Given the description of an element on the screen output the (x, y) to click on. 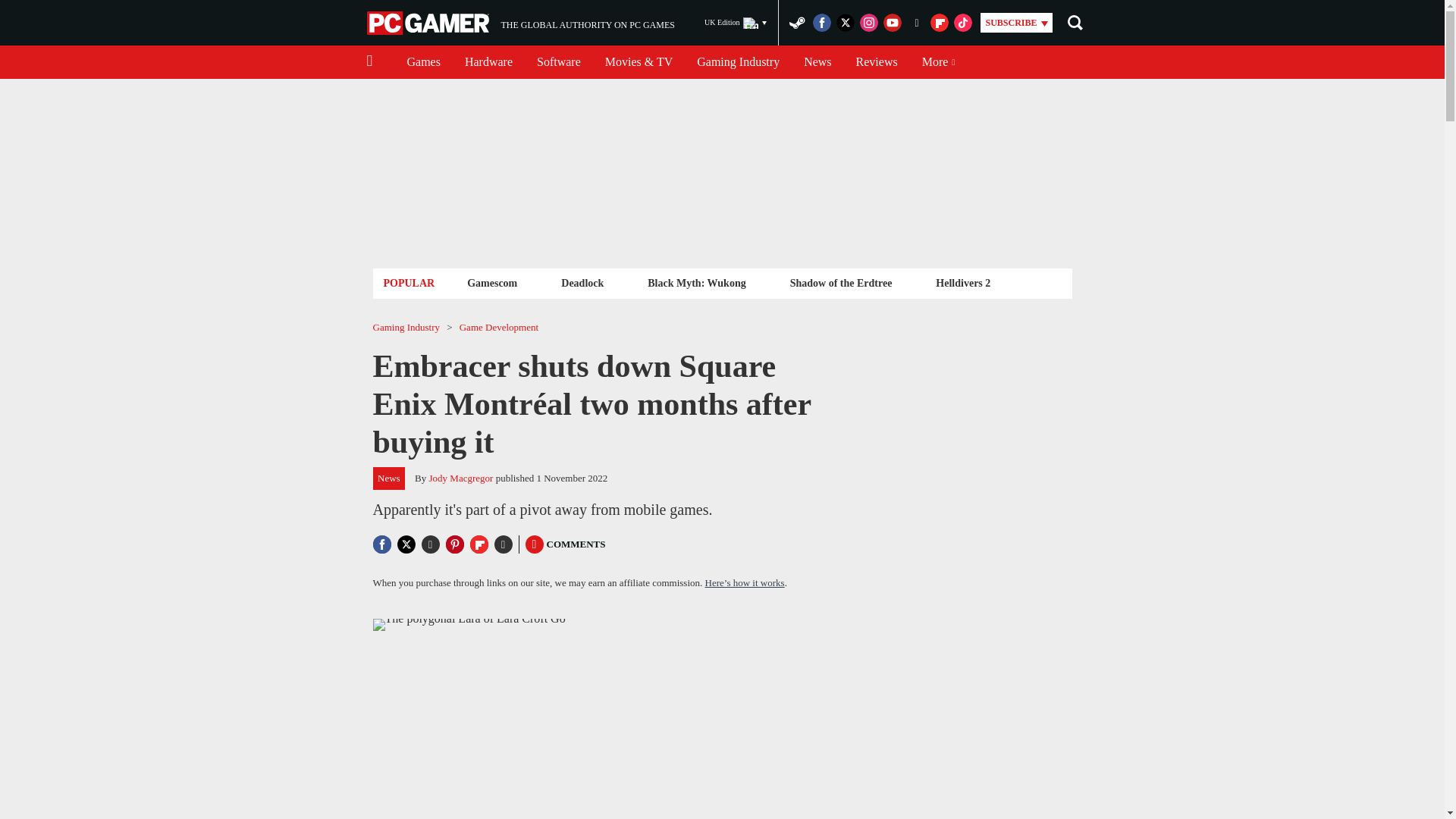
Gamescom (491, 282)
UK Edition (735, 22)
Deadlock (582, 282)
Software (558, 61)
Games (422, 61)
PC Gamer (520, 22)
Reviews (429, 22)
Hardware (877, 61)
News (488, 61)
